Given the description of an element on the screen output the (x, y) to click on. 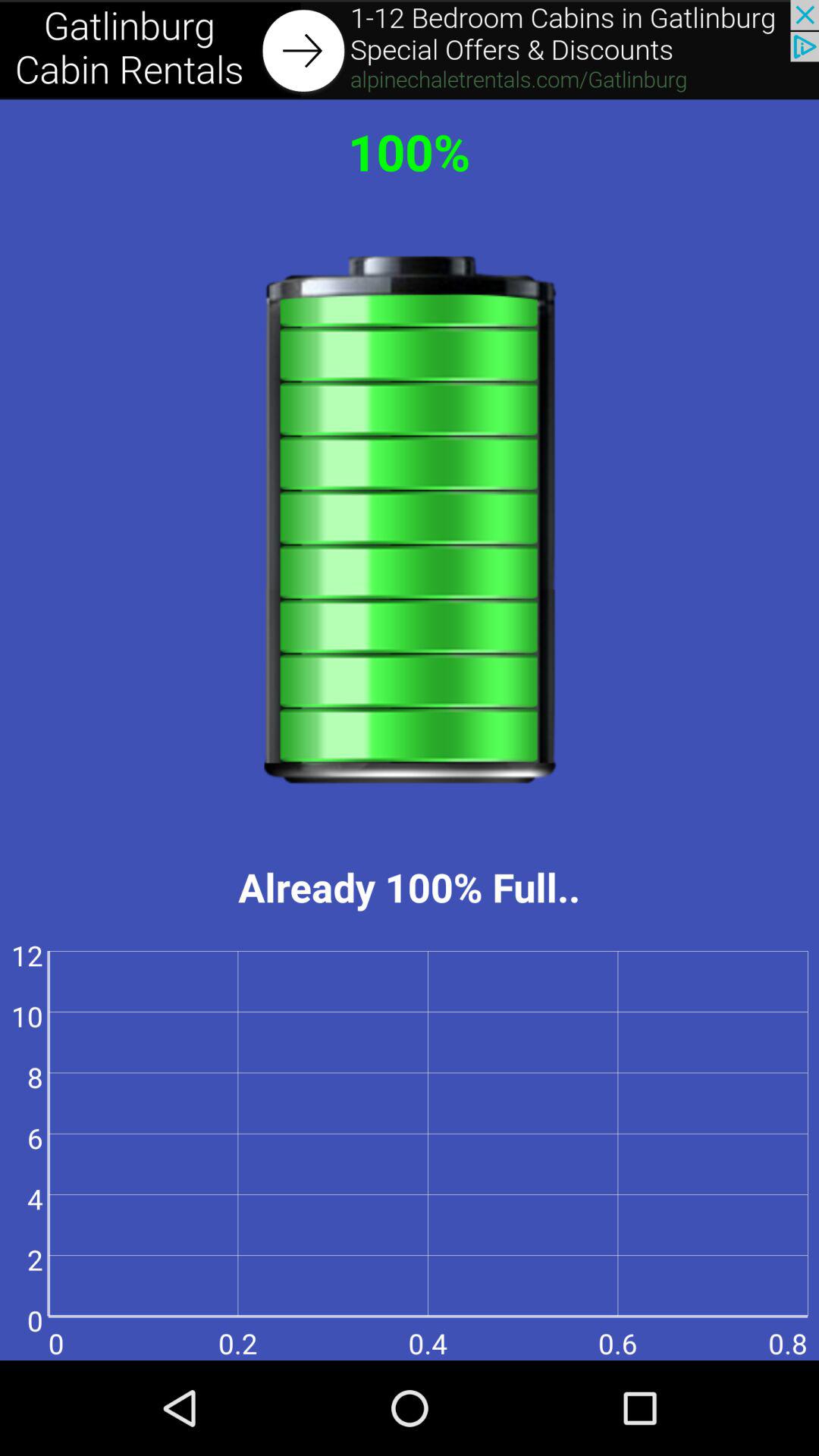
an advertisement (409, 49)
